Given the description of an element on the screen output the (x, y) to click on. 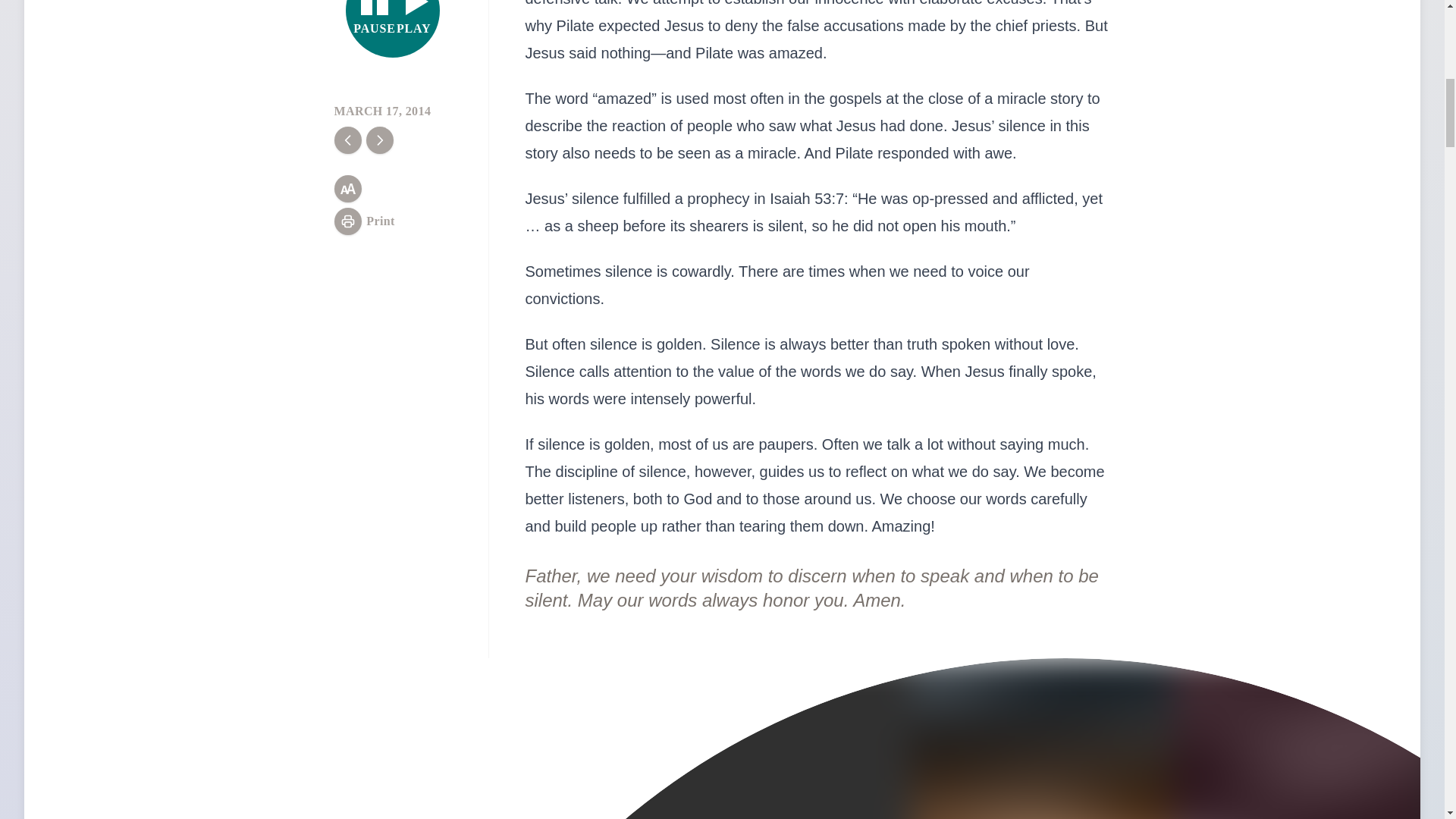
Print (392, 28)
